Given the description of an element on the screen output the (x, y) to click on. 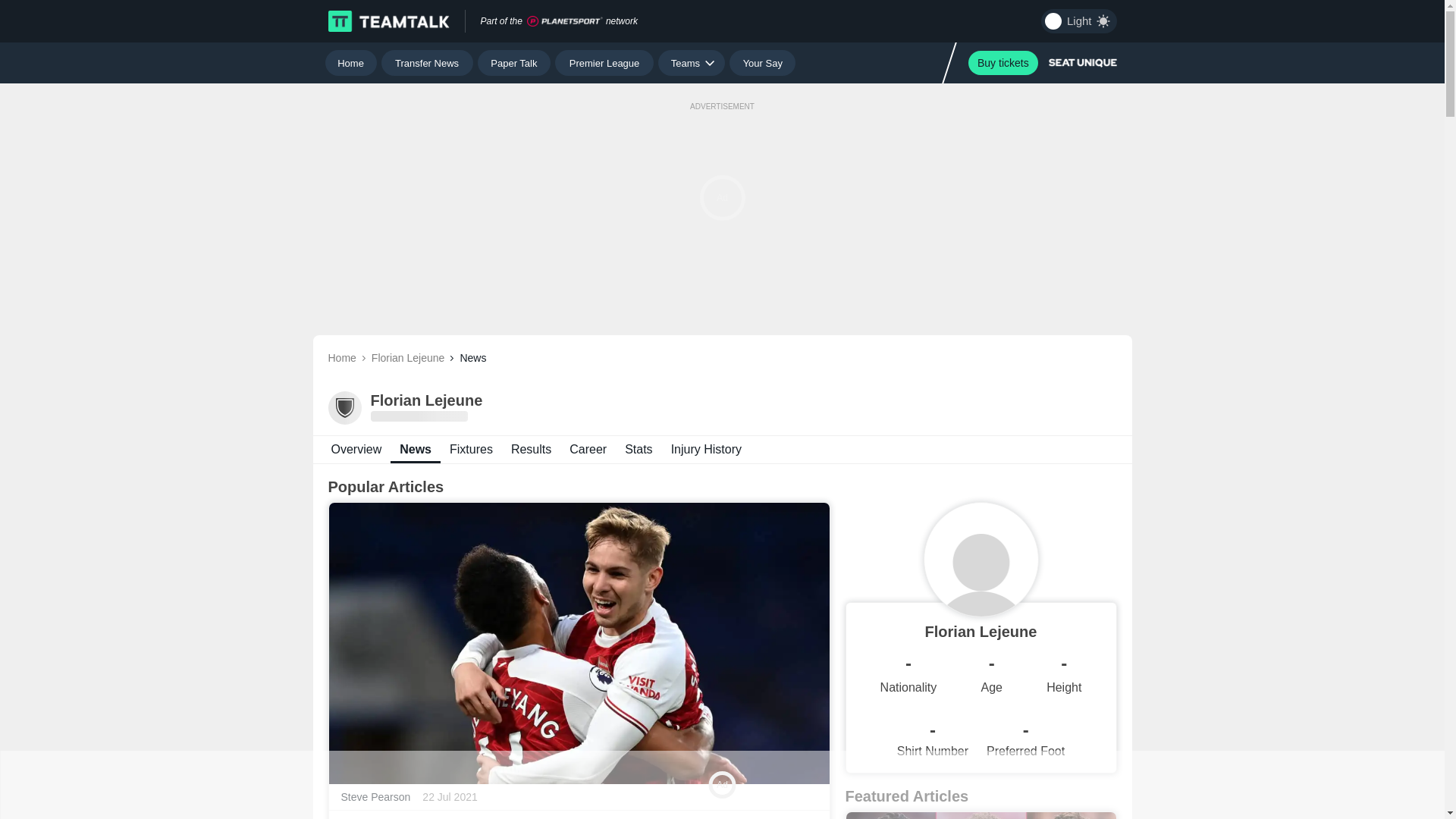
Buy tickets (1003, 62)
Transfer News (427, 62)
Florian Lejeune News (721, 449)
Florian Lejeune Career (355, 449)
Florian Lejeune Injury History (587, 449)
Your Say (706, 449)
Florian Lejeune Fixtures (761, 62)
Home (471, 449)
Florian Lejeune News (349, 62)
